Given the description of an element on the screen output the (x, y) to click on. 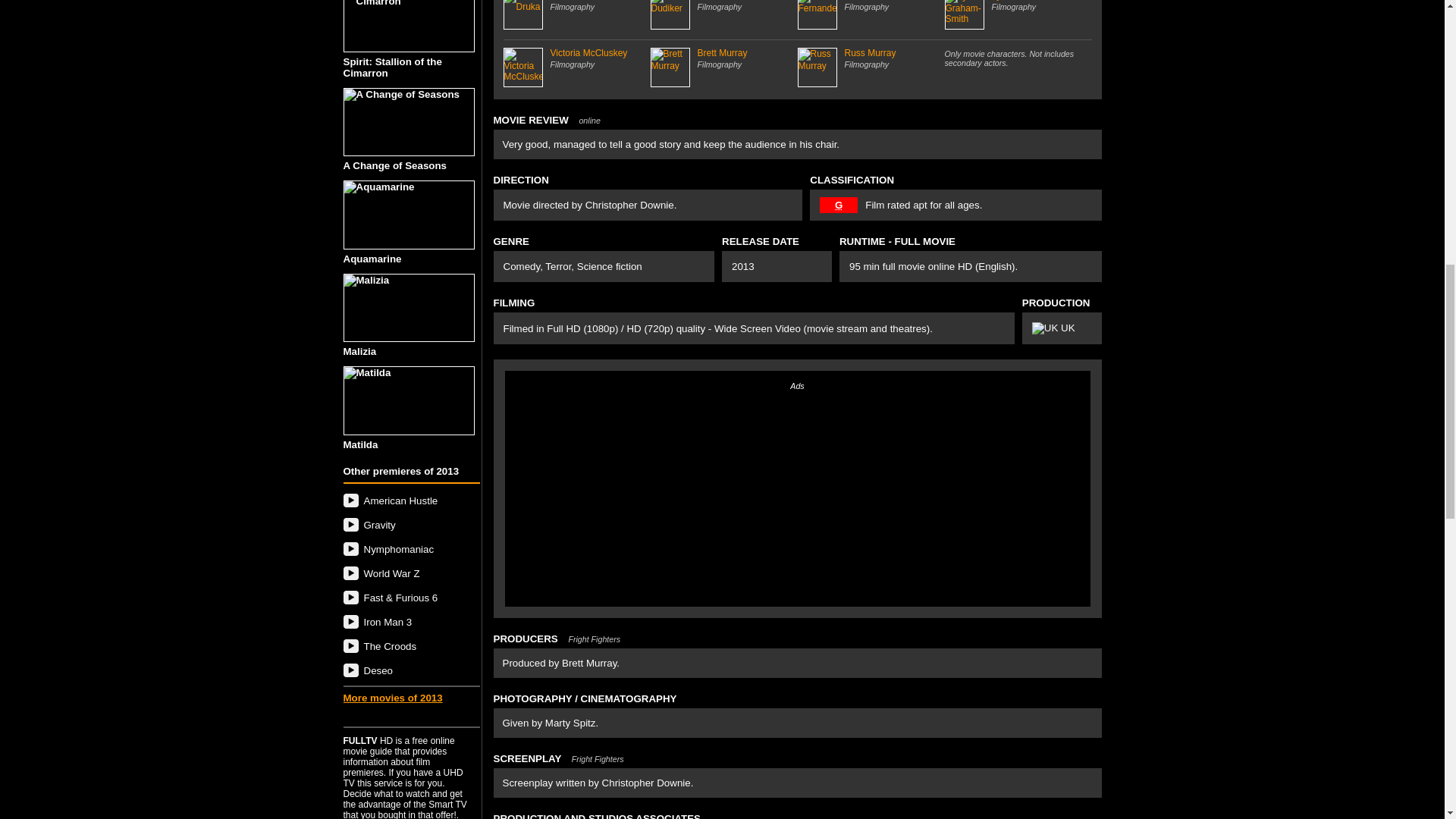
Matilda (410, 408)
A Change of Seasons (410, 129)
Iron Man 3, online movie (410, 622)
American Hustle, online movie (410, 500)
Gravity, online movie (410, 524)
Aquamarine (410, 222)
World War Z (410, 573)
Spirit: Stallion of the Cimarron (410, 39)
Malizia (410, 315)
Matilda, movie (408, 400)
Malizia, movie (408, 308)
American Hustle (410, 500)
A Change of Seasons, movie (408, 122)
Spirit: Stallion of the Cimarron, movie (408, 26)
World War Z, online movie (410, 573)
